Given the description of an element on the screen output the (x, y) to click on. 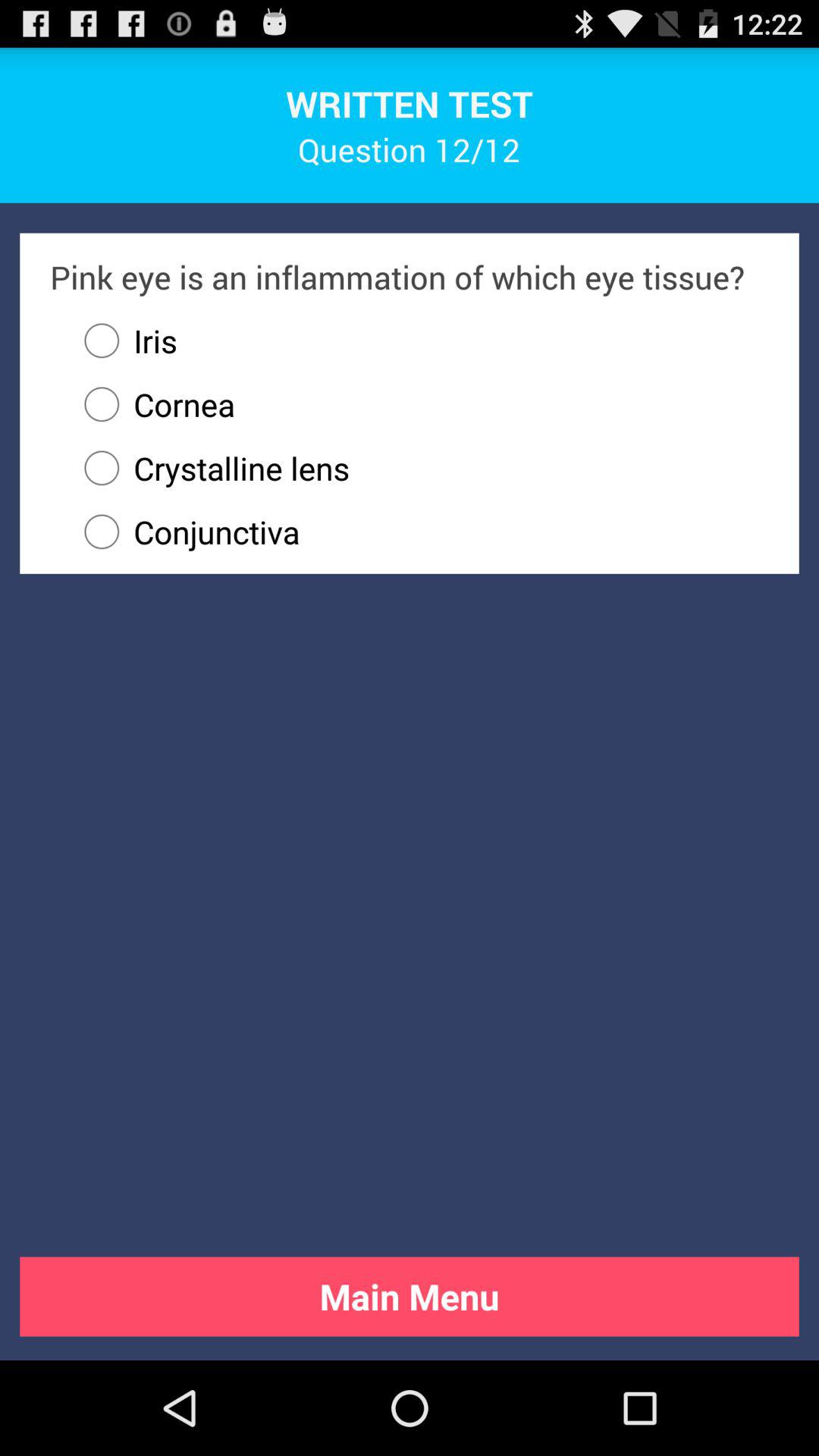
click icon above crystalline lens radio button (151, 404)
